Given the description of an element on the screen output the (x, y) to click on. 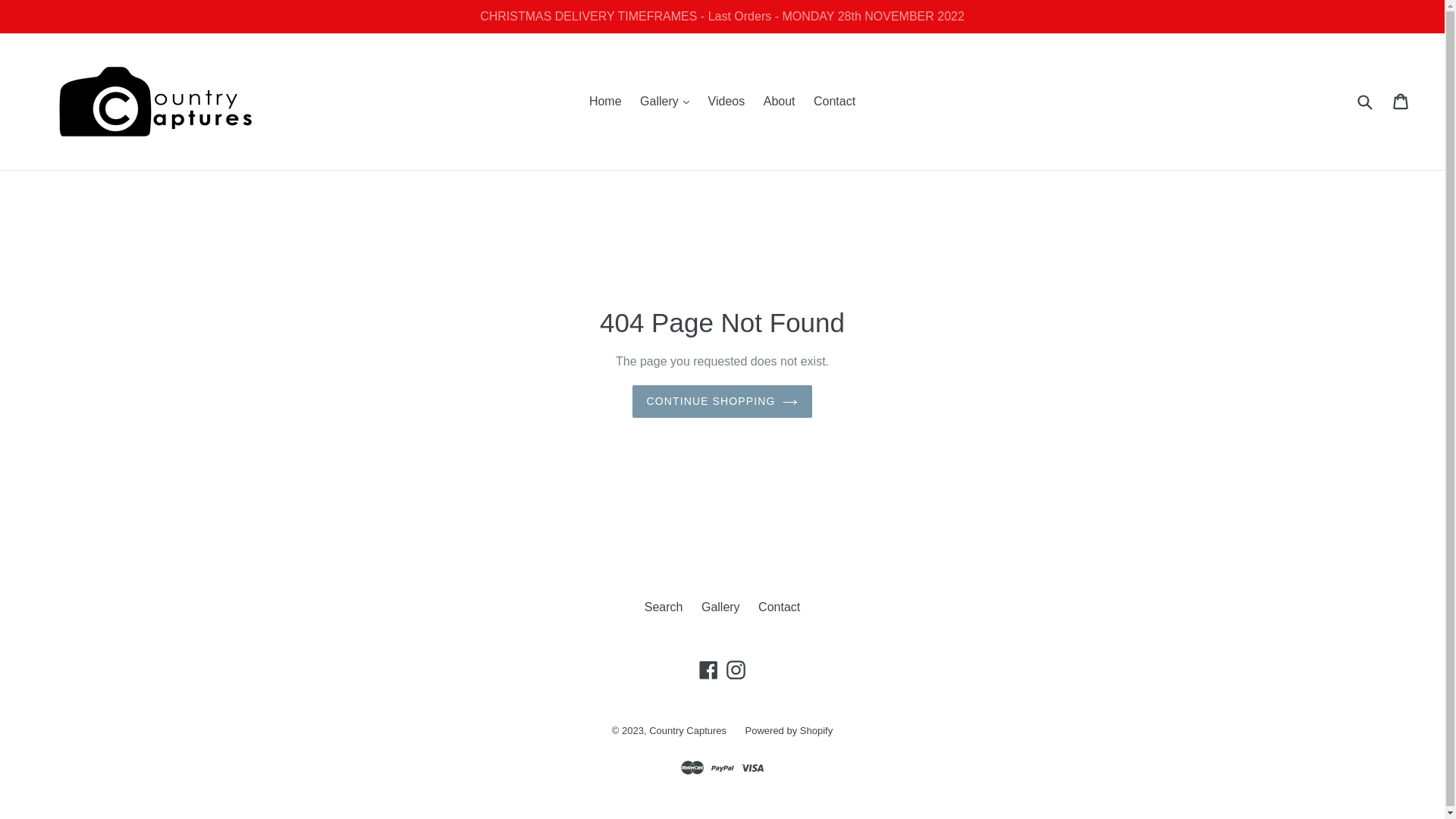
Instagram Element type: text (735, 669)
Submit Element type: text (1363, 100)
Videos Element type: text (726, 101)
About Element type: text (779, 101)
Search Element type: text (663, 606)
Powered by Shopify Element type: text (789, 730)
Facebook Element type: text (708, 669)
CONTINUE SHOPPING Element type: text (722, 401)
Contact Element type: text (779, 606)
Cart
Cart Element type: text (1401, 101)
Gallery Element type: text (720, 606)
Home Element type: text (605, 101)
Contact Element type: text (834, 101)
Country Captures Element type: text (687, 730)
